Given the description of an element on the screen output the (x, y) to click on. 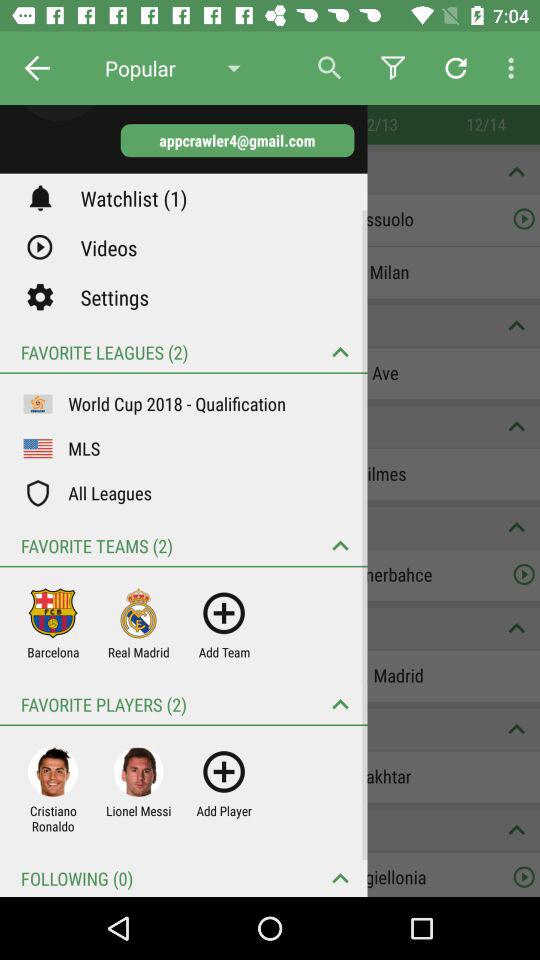
select the image above the text barcelona on the web page (52, 613)
